Given the description of an element on the screen output the (x, y) to click on. 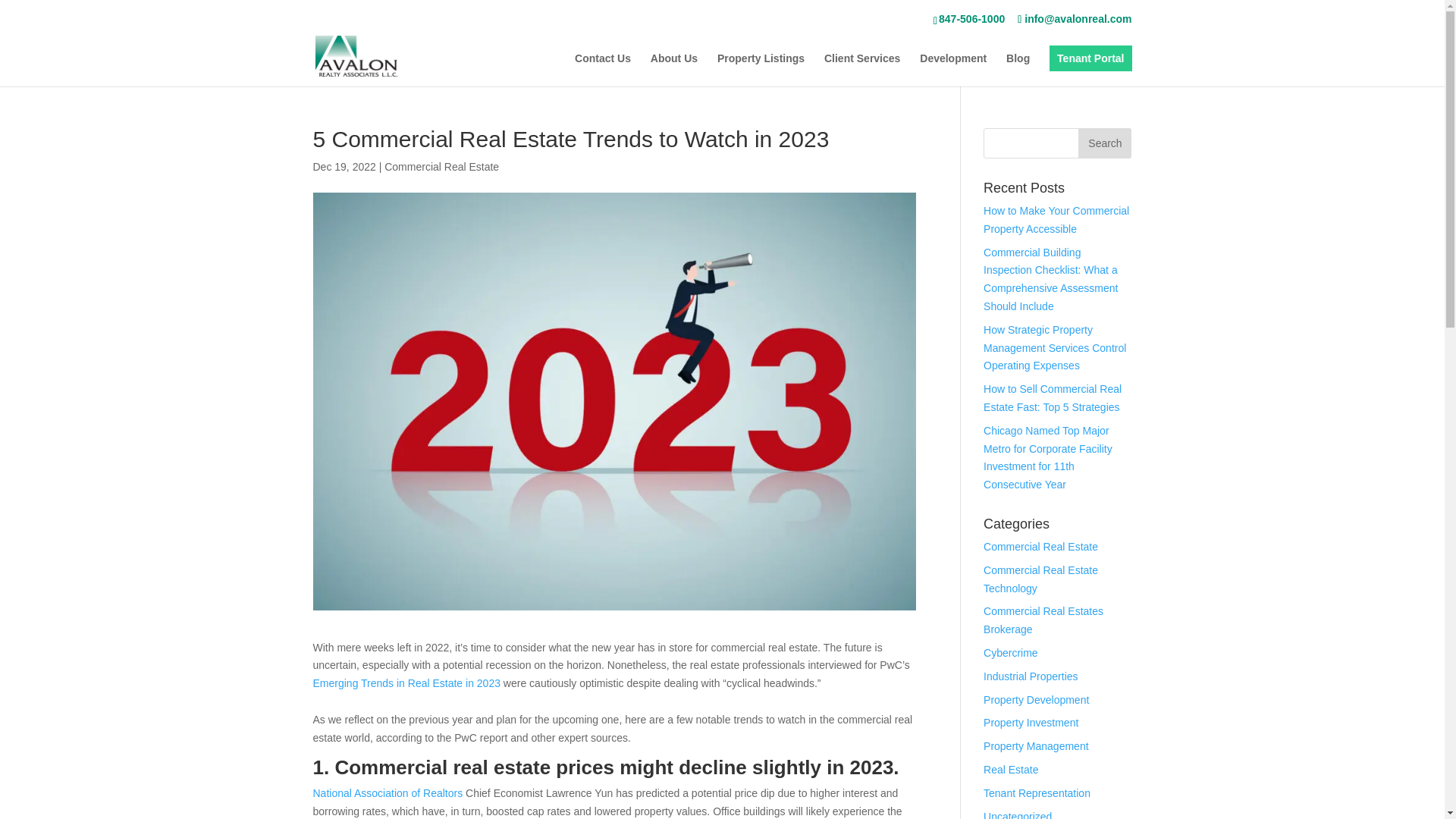
Tenant Representation (1037, 793)
National Association of Realtors (388, 793)
Property Development (1036, 699)
Uncategorized (1017, 814)
Property Management (1036, 746)
How to Sell Commercial Real Estate Fast: Top 5 Strategies (1052, 398)
Contact Us (602, 69)
Tenant Portal (1090, 58)
About Us (673, 69)
